Given the description of an element on the screen output the (x, y) to click on. 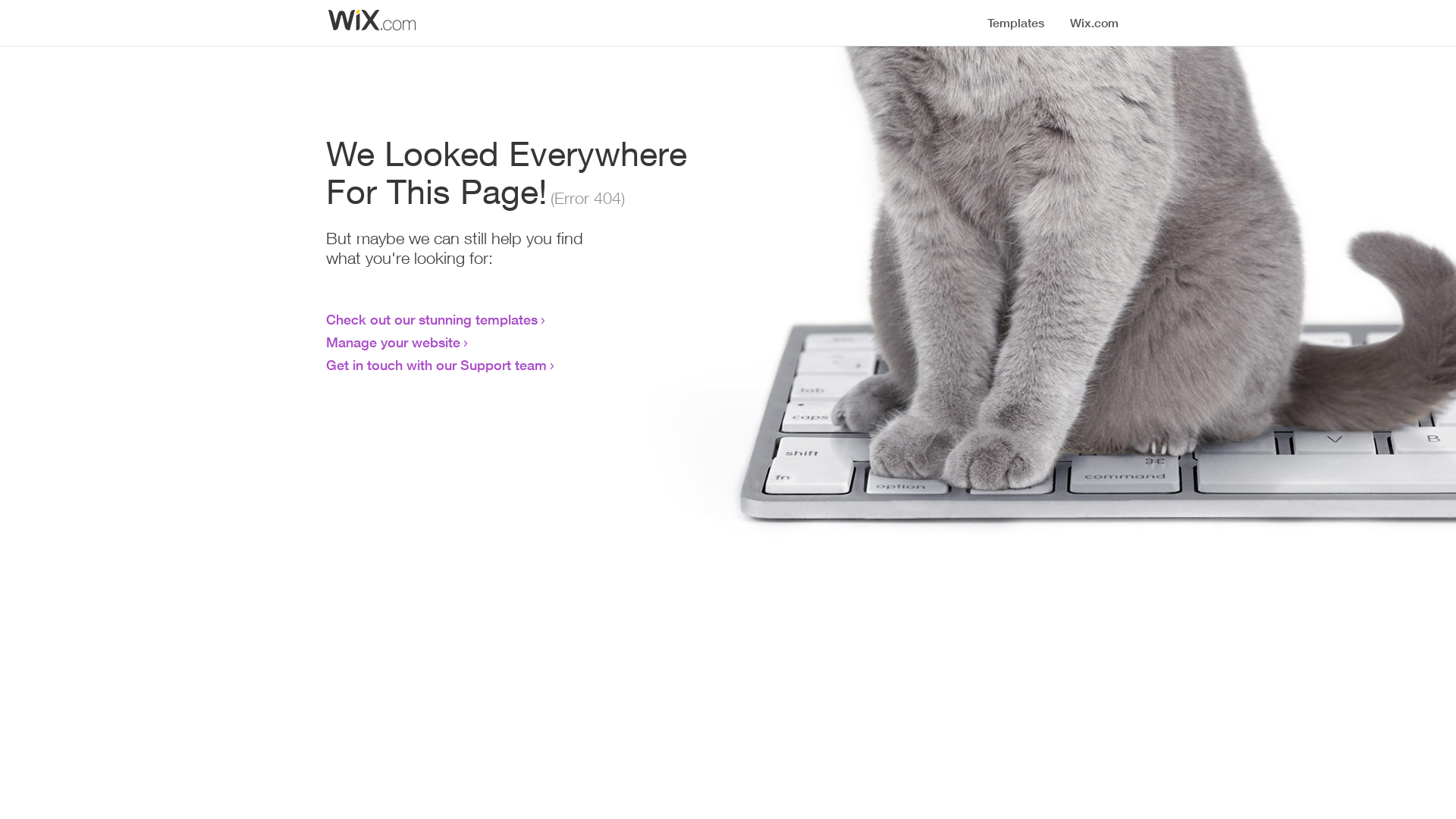
Check out our stunning templates Element type: text (431, 318)
Manage your website Element type: text (393, 341)
Get in touch with our Support team Element type: text (436, 364)
